Given the description of an element on the screen output the (x, y) to click on. 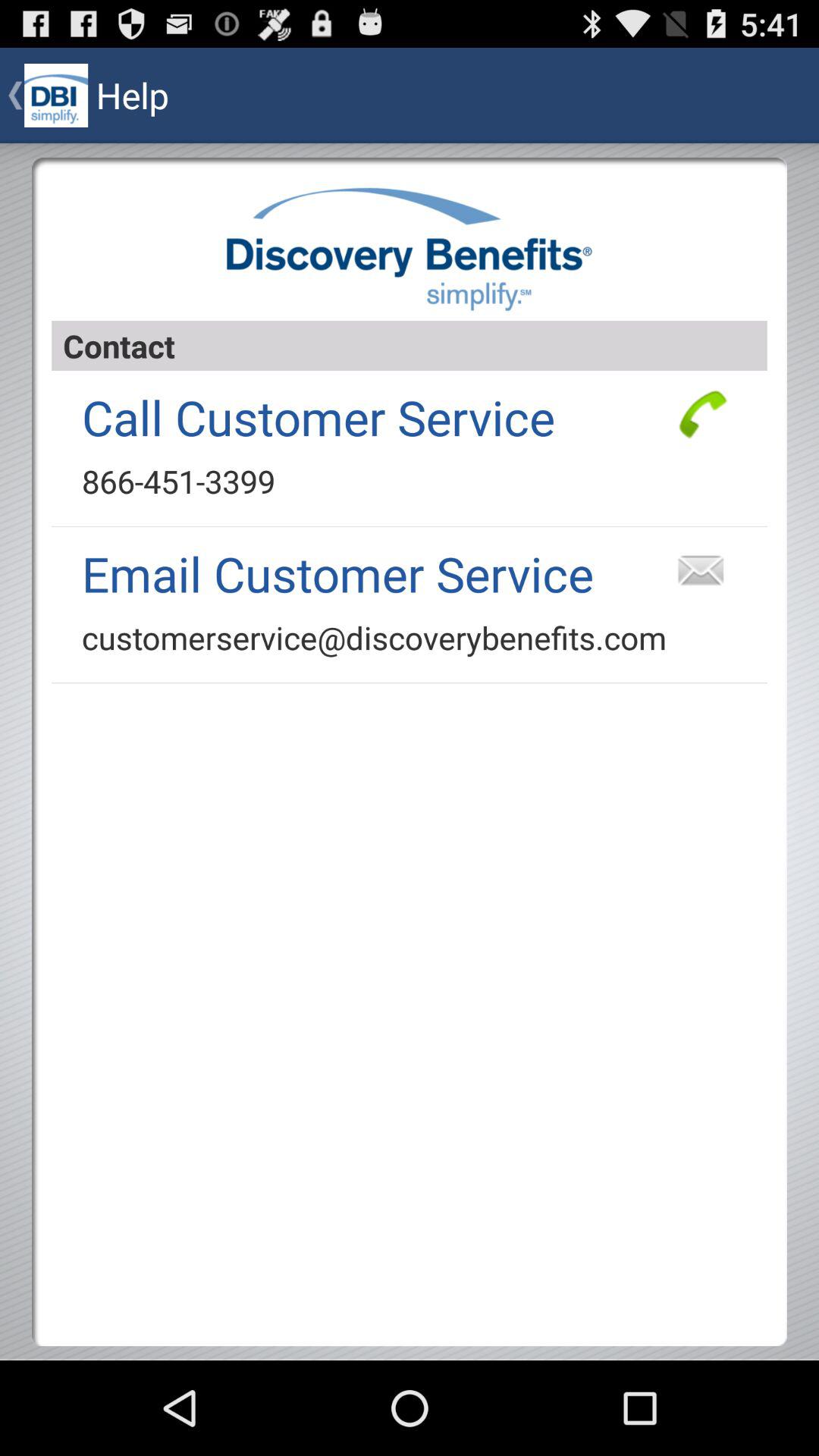
choose the app below email customer service (373, 637)
